Given the description of an element on the screen output the (x, y) to click on. 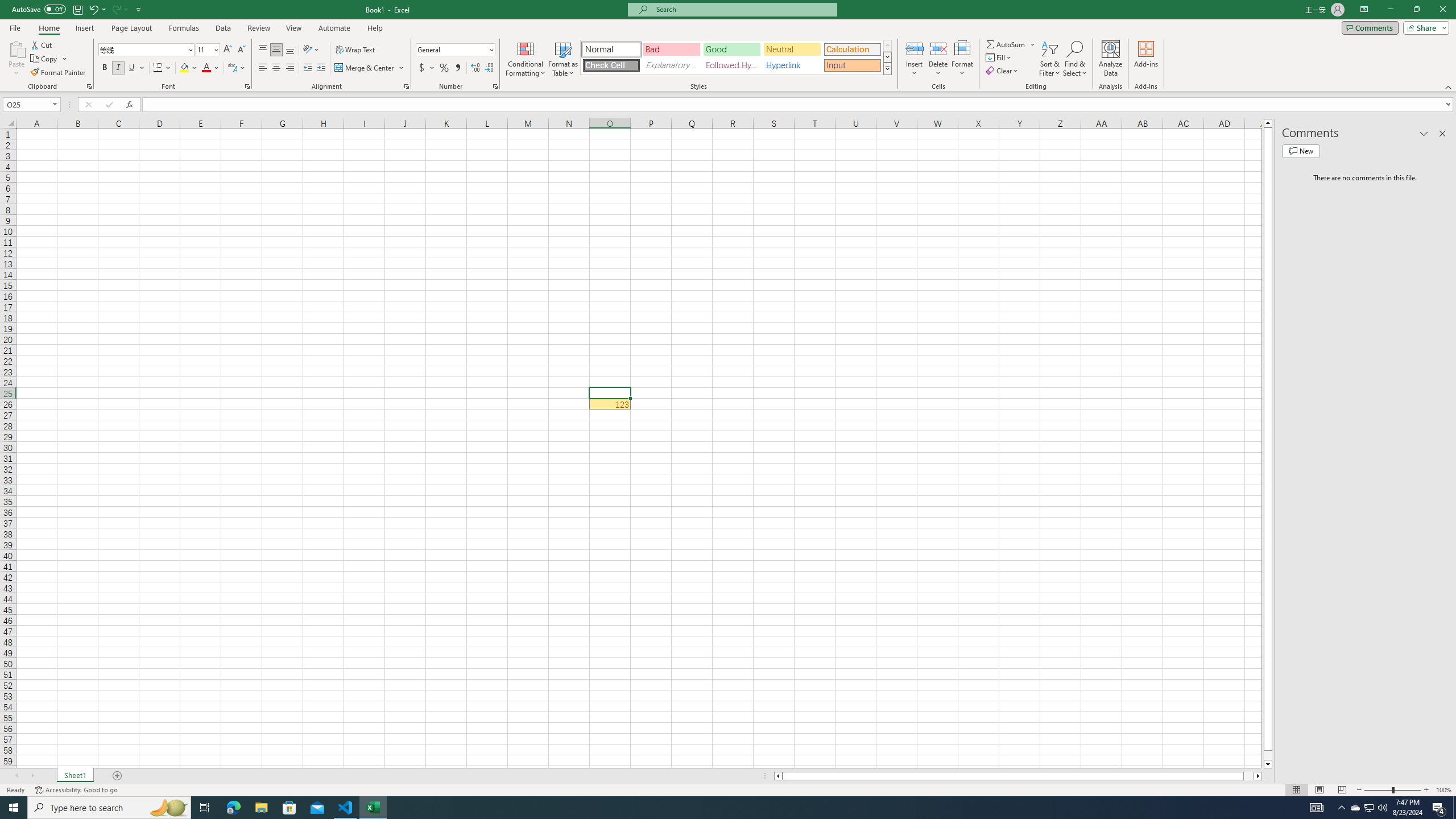
Microsoft search (742, 9)
Font Size (204, 49)
Number Format (455, 49)
Underline (131, 67)
Check Cell (611, 65)
Insert Cells (914, 48)
Increase Indent (320, 67)
Format as Table (563, 58)
Font (142, 49)
Font (147, 49)
Accounting Number Format (426, 67)
